Given the description of an element on the screen output the (x, y) to click on. 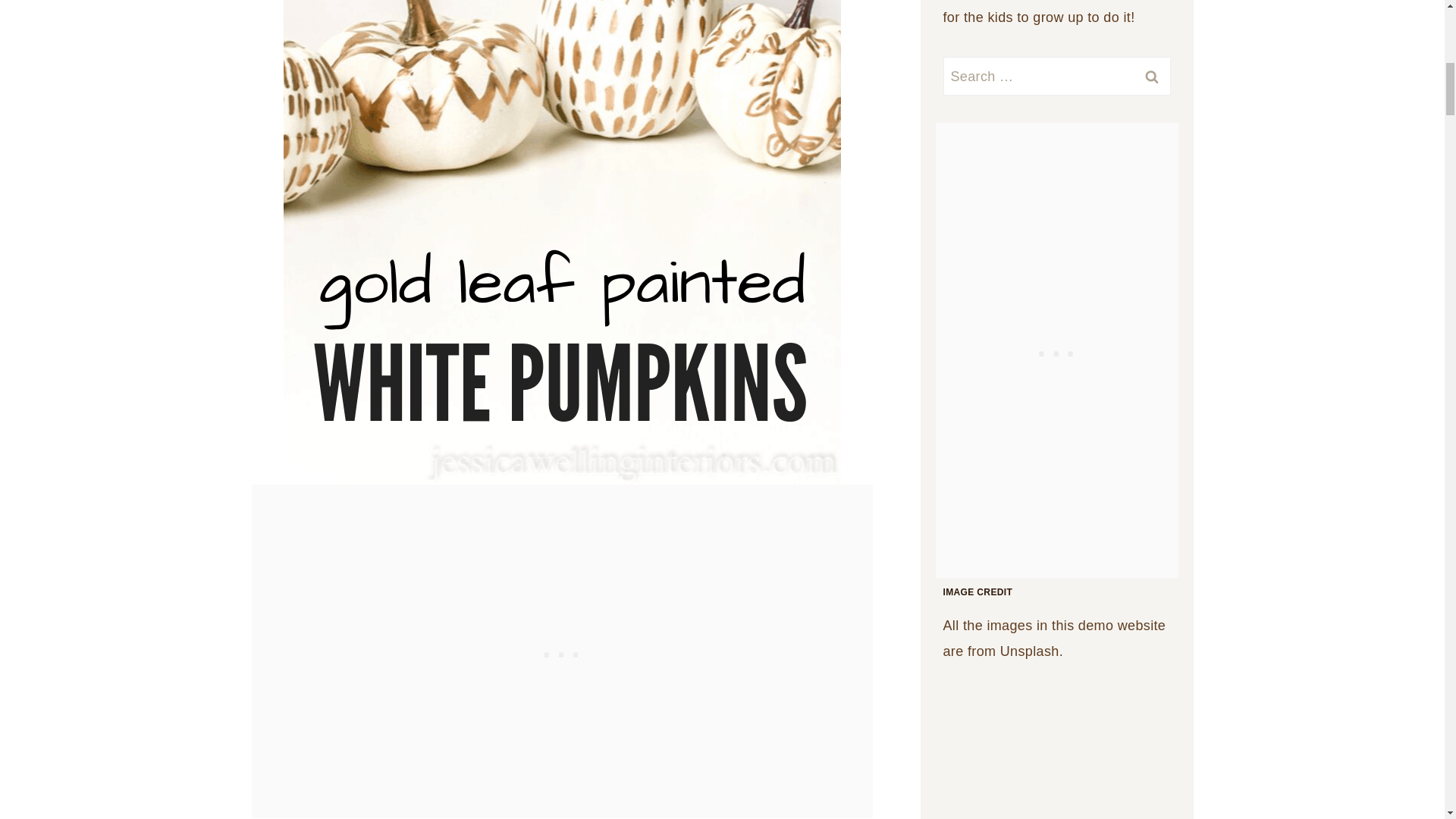
Search (1151, 75)
Search (1151, 75)
